Given the description of an element on the screen output the (x, y) to click on. 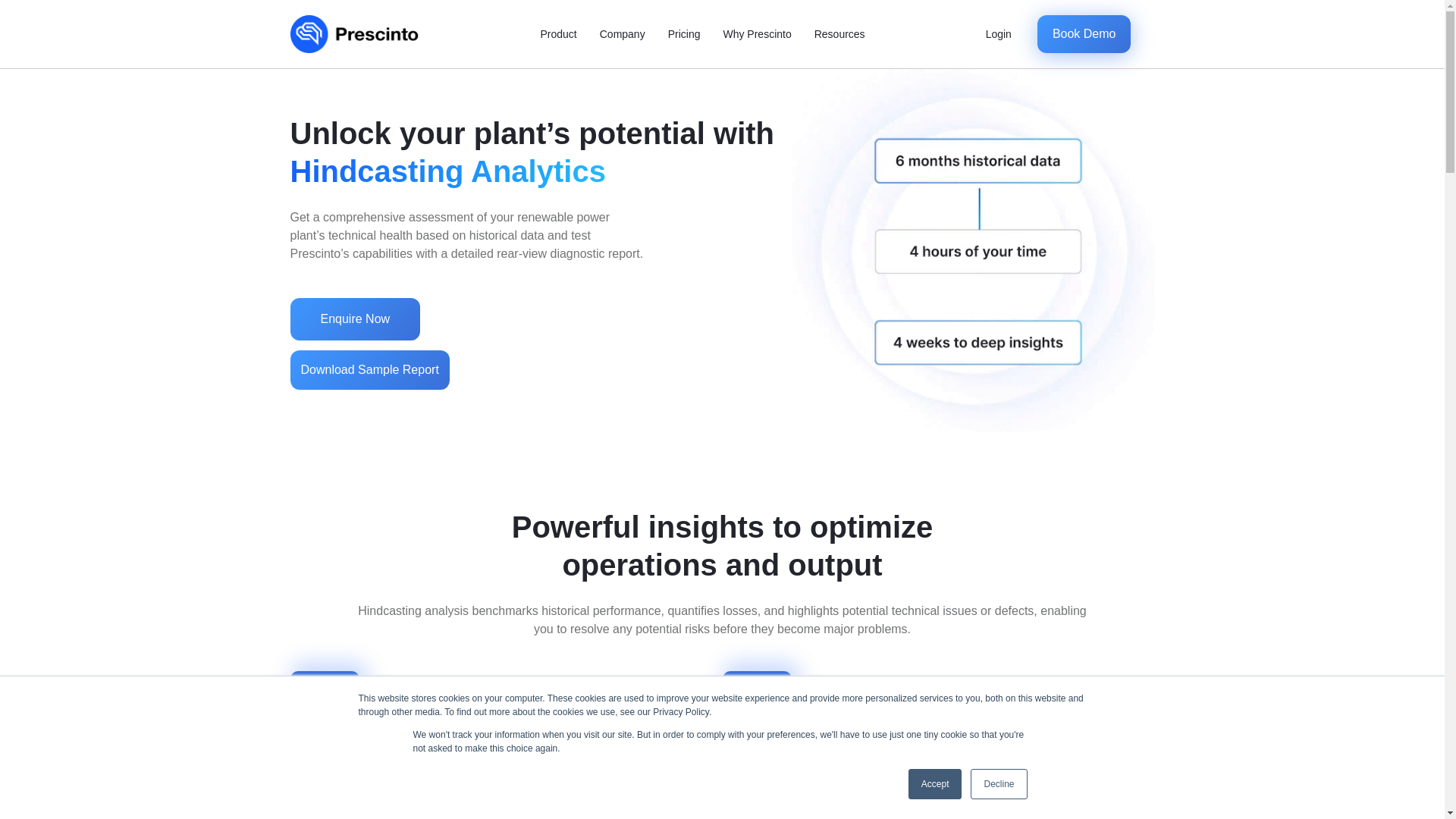
Pricing (683, 33)
Product (558, 33)
Decline (998, 784)
Resources (839, 33)
Company (622, 33)
Accept (935, 784)
Why Prescinto (756, 33)
